Given the description of an element on the screen output the (x, y) to click on. 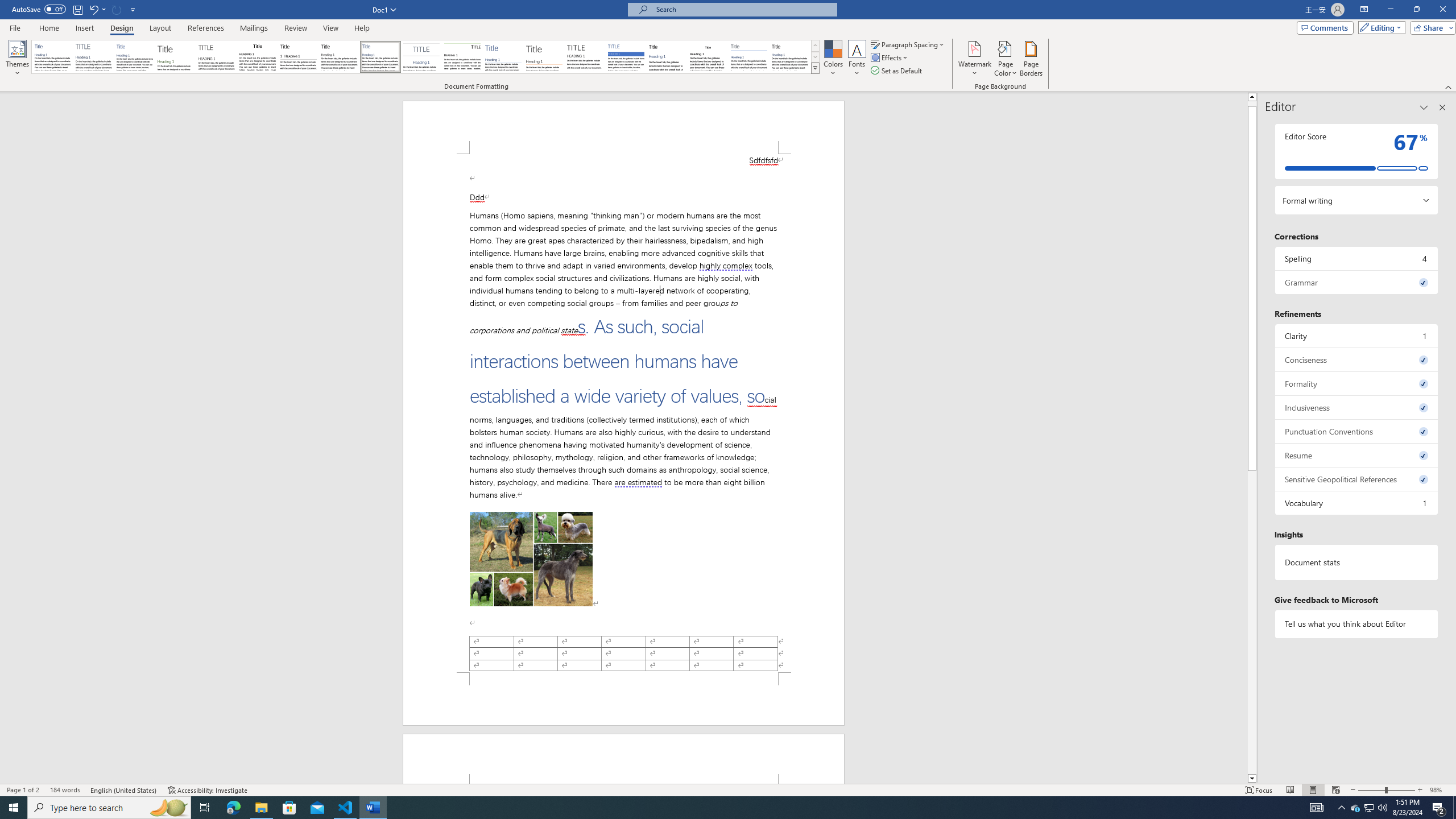
Page Borders... (1031, 58)
Lines (Distinctive) (462, 56)
Themes (17, 58)
Effects (890, 56)
Minimalist (584, 56)
Resume, 0 issues. Press space or enter to review items. (1356, 454)
Paragraph Spacing (908, 44)
Fonts (856, 58)
Watermark (974, 58)
